Given the description of an element on the screen output the (x, y) to click on. 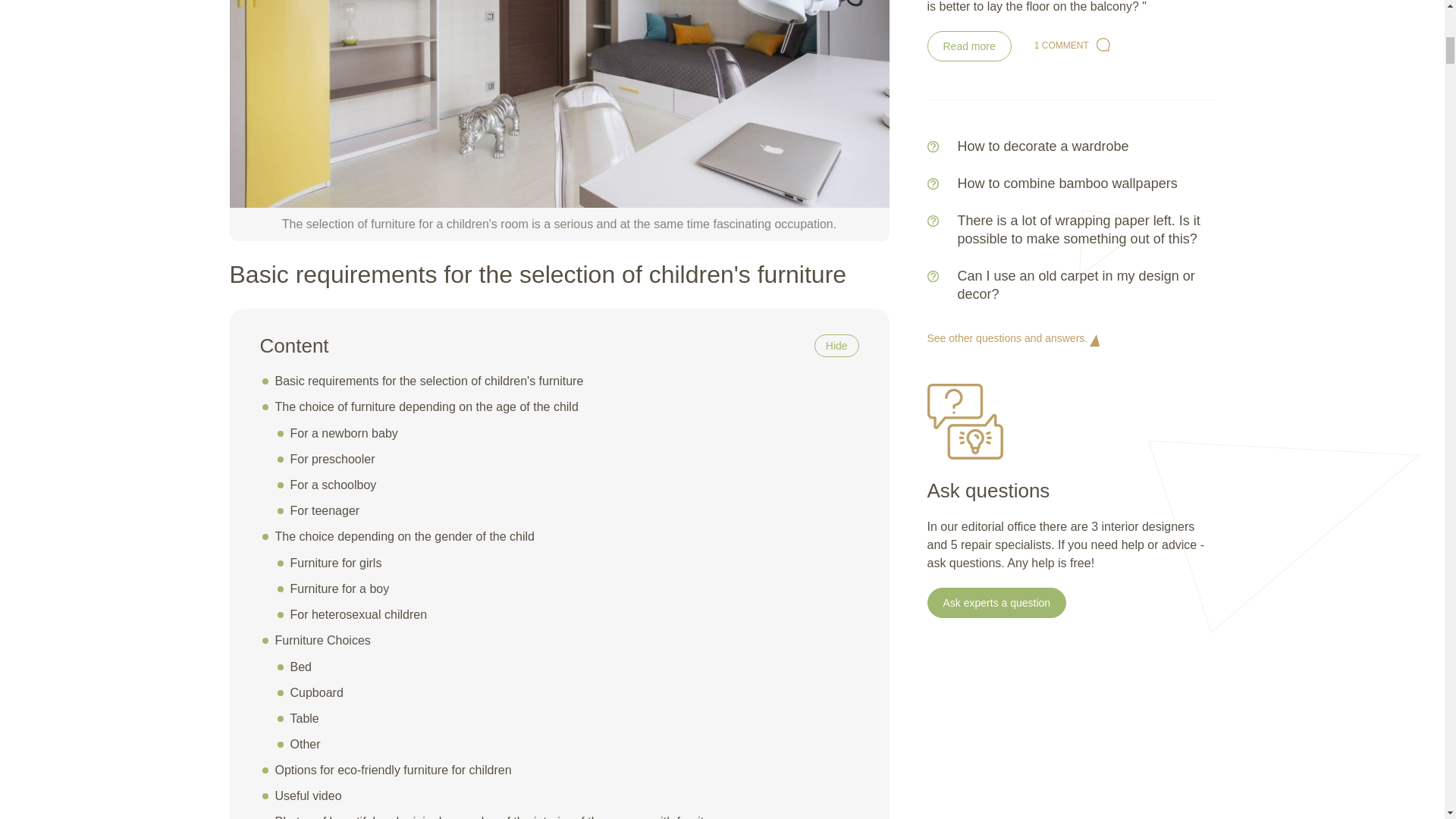
For preschooler (331, 459)
The choice depending on the gender of the child (404, 535)
Options for eco-friendly furniture for children (393, 769)
Useful video (307, 795)
For a newborn baby (343, 432)
The choice of furniture depending on the age of the child (426, 406)
Furniture Choices (322, 640)
Hide (836, 345)
Other (304, 744)
Furniture for a boy (338, 588)
For heterosexual children (357, 614)
For a schoolboy (332, 484)
Bed (300, 666)
Table (303, 717)
